Given the description of an element on the screen output the (x, y) to click on. 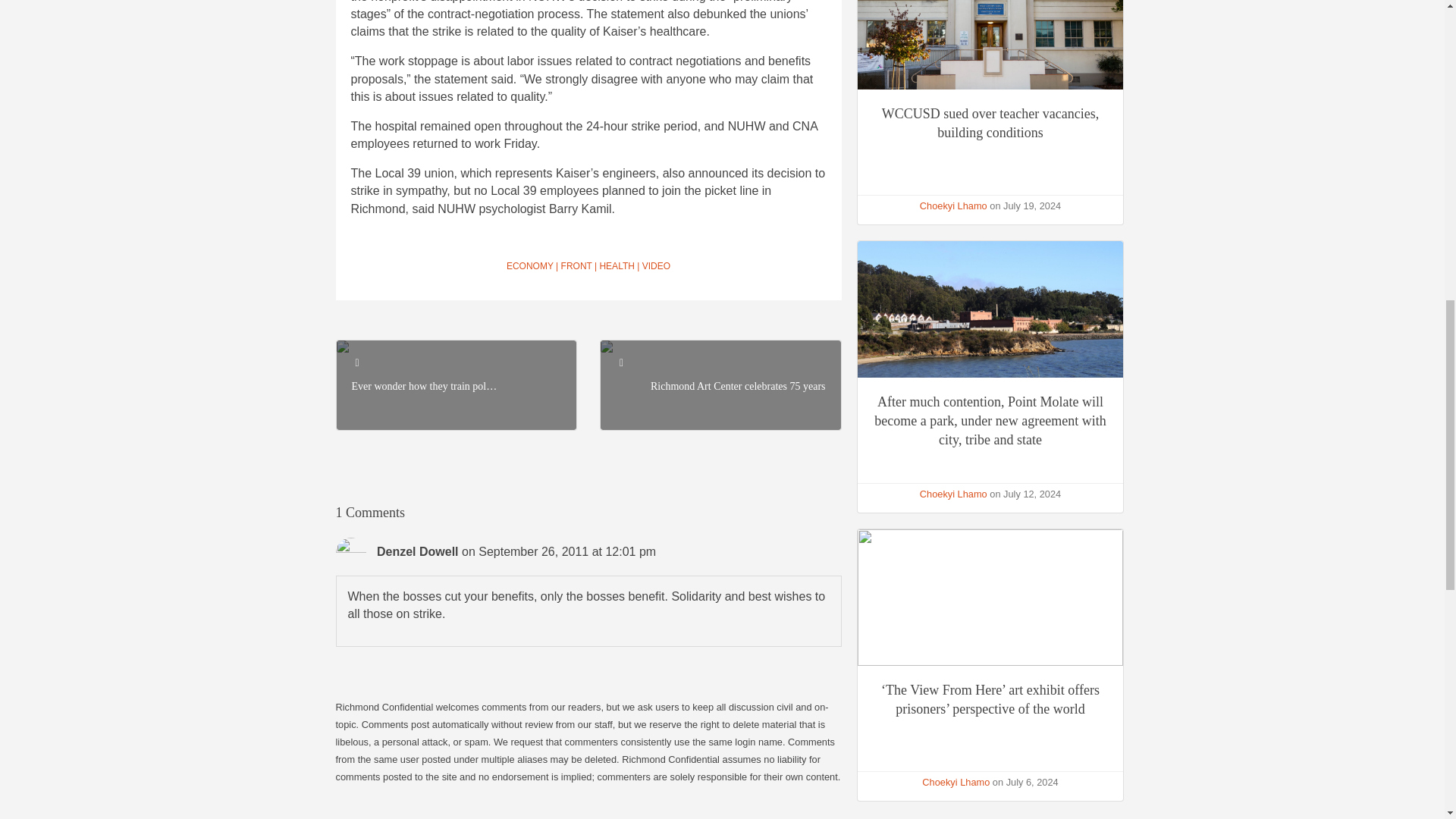
Choekyi Lhamo (955, 781)
FRONT (576, 266)
Choekyi Lhamo (953, 205)
Choekyi Lhamo (953, 493)
ECONOMY (529, 266)
HEALTH (615, 266)
Richmond Art Center celebrates 75 years (737, 386)
VIDEO (655, 266)
WCCUSD sued over teacher vacancies, building conditions (990, 123)
